Given the description of an element on the screen output the (x, y) to click on. 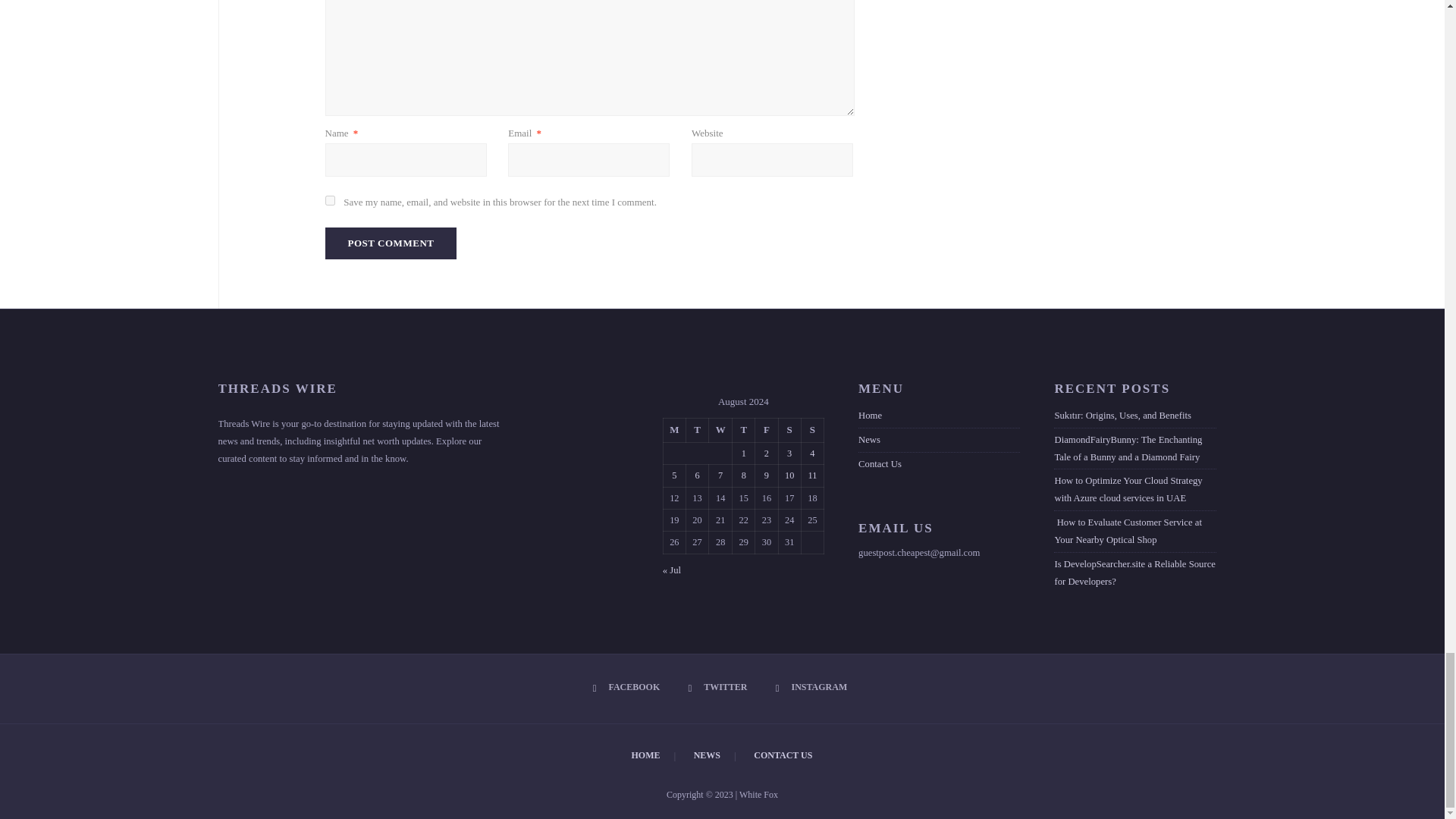
yes (329, 200)
Post Comment (390, 243)
Post Comment (390, 243)
